Given the description of an element on the screen output the (x, y) to click on. 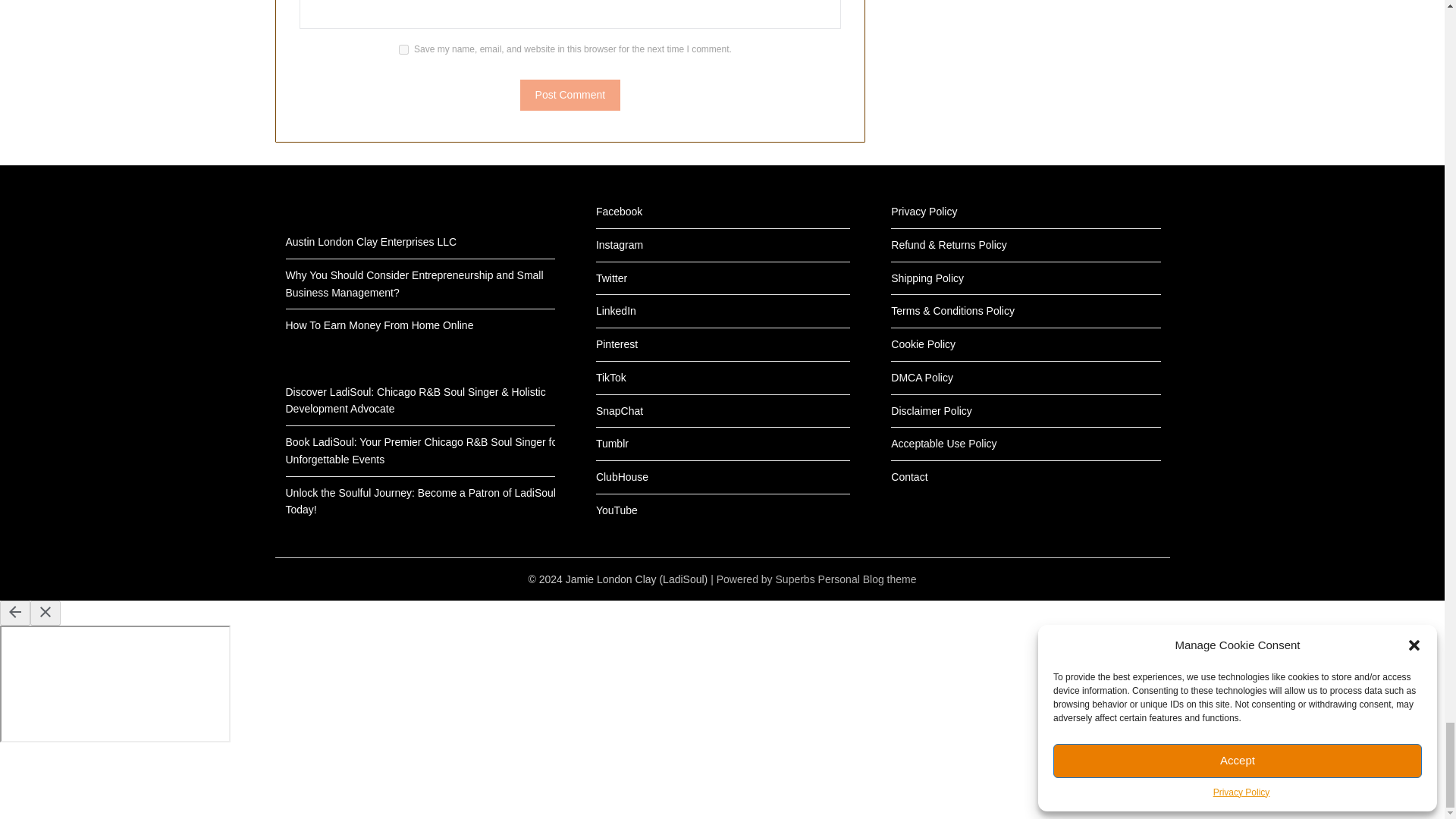
Post Comment (570, 94)
yes (403, 49)
